Given the description of an element on the screen output the (x, y) to click on. 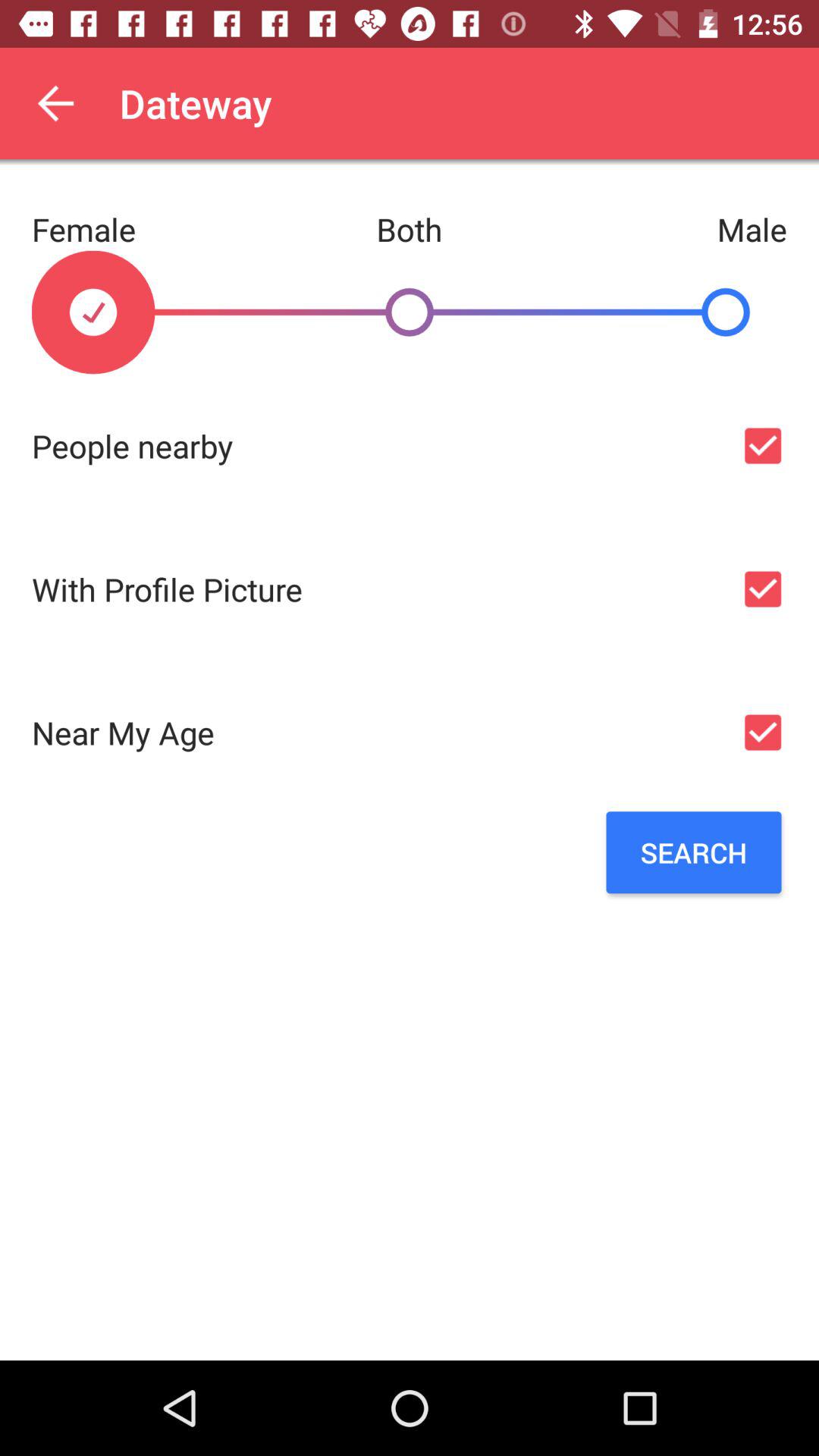
select people nearby (762, 445)
